Given the description of an element on the screen output the (x, y) to click on. 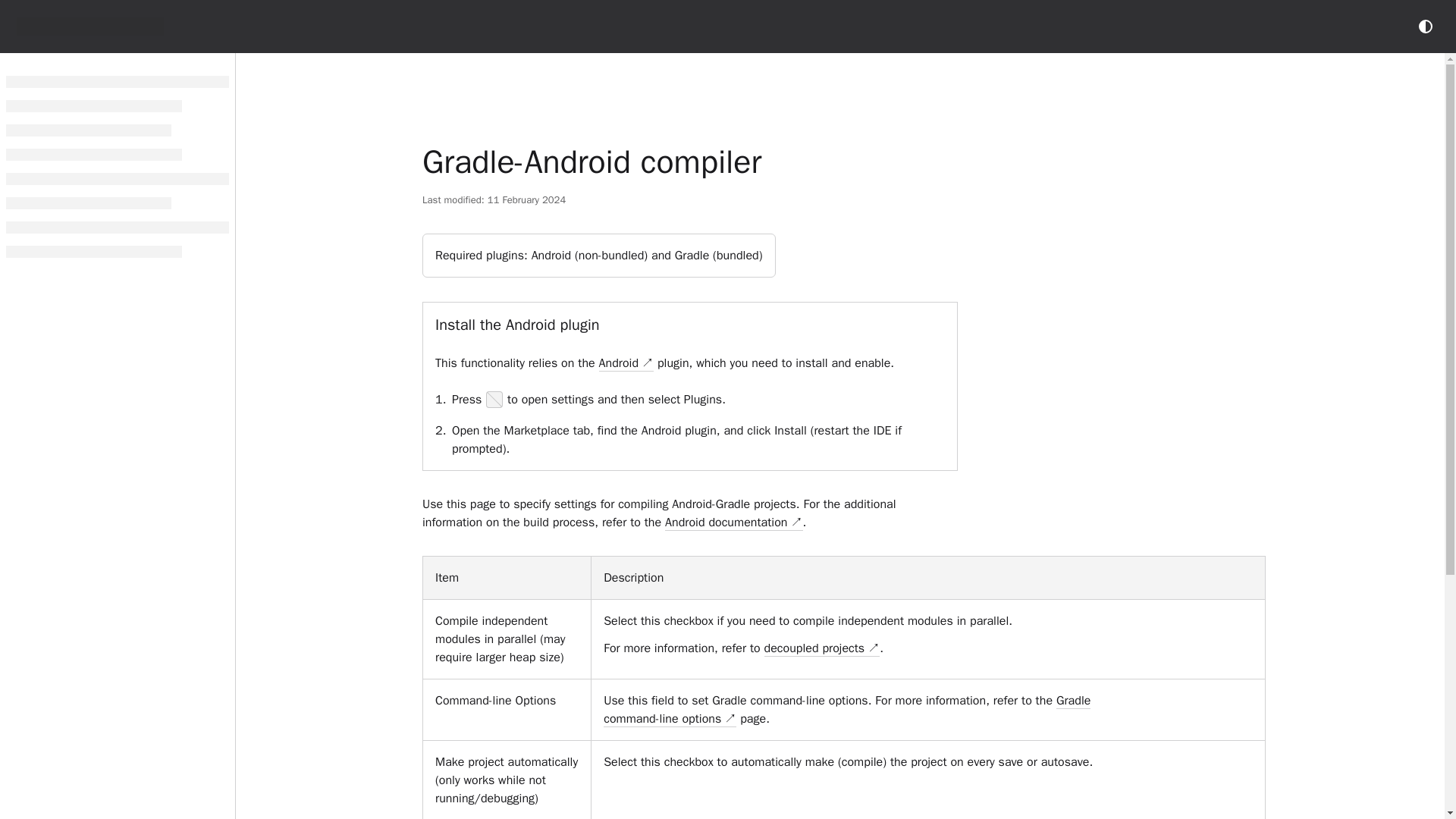
decoupled projects (822, 648)
Android (625, 363)
Android documentation (734, 522)
Gradle command-line options (847, 709)
Switch theme (1425, 26)
